Given the description of an element on the screen output the (x, y) to click on. 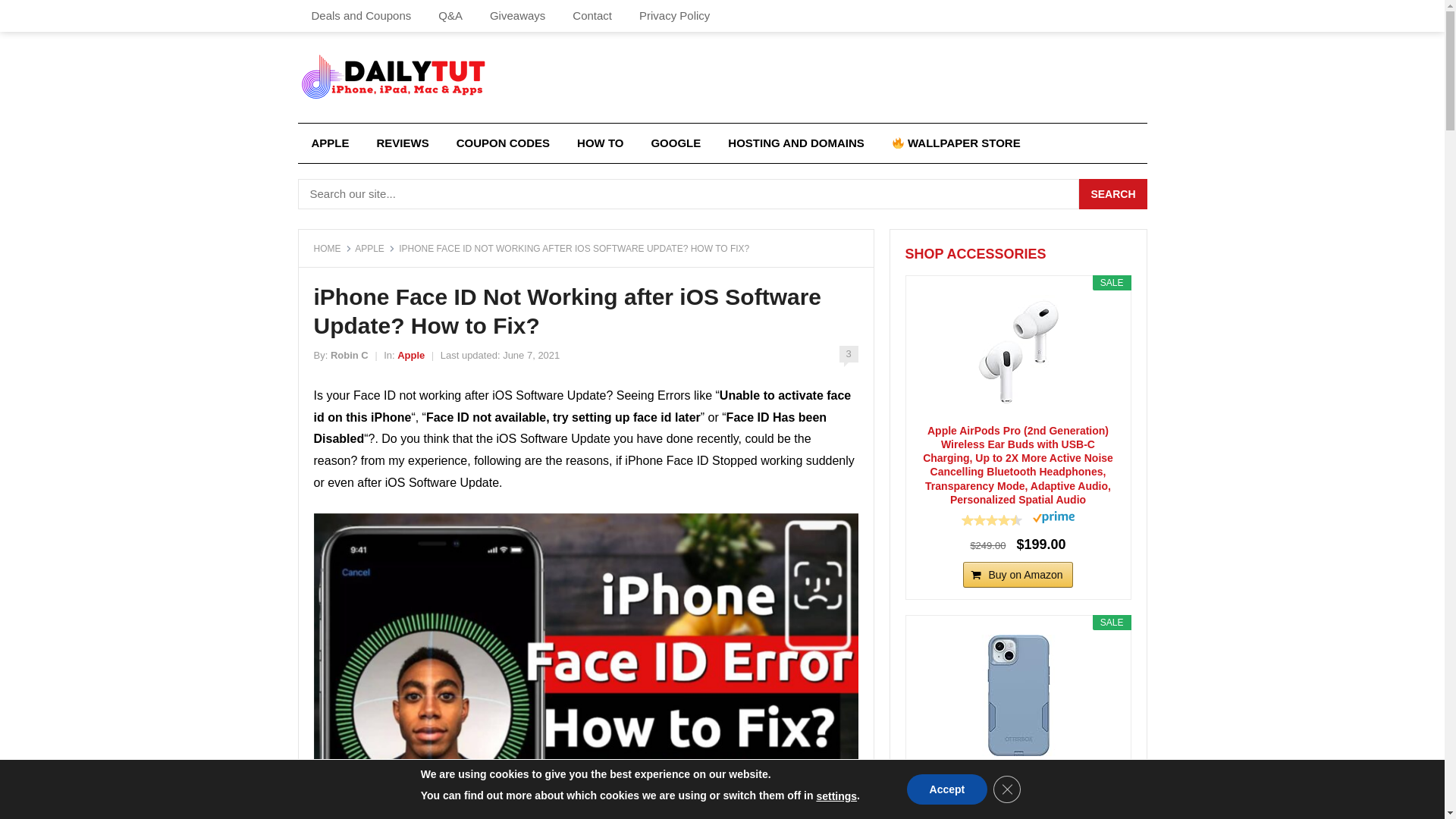
Deals and Coupons (361, 15)
Robin C (349, 355)
WALLPAPER STORE (955, 142)
Giveaways (517, 15)
Apple (329, 142)
APPLE (374, 248)
COUPON CODES (502, 142)
REVIEWS (402, 142)
Search (1112, 194)
HOW TO (600, 142)
APPLE (329, 142)
Privacy Policy (674, 15)
Contact (592, 15)
Google (675, 142)
Apple (411, 355)
